Given the description of an element on the screen output the (x, y) to click on. 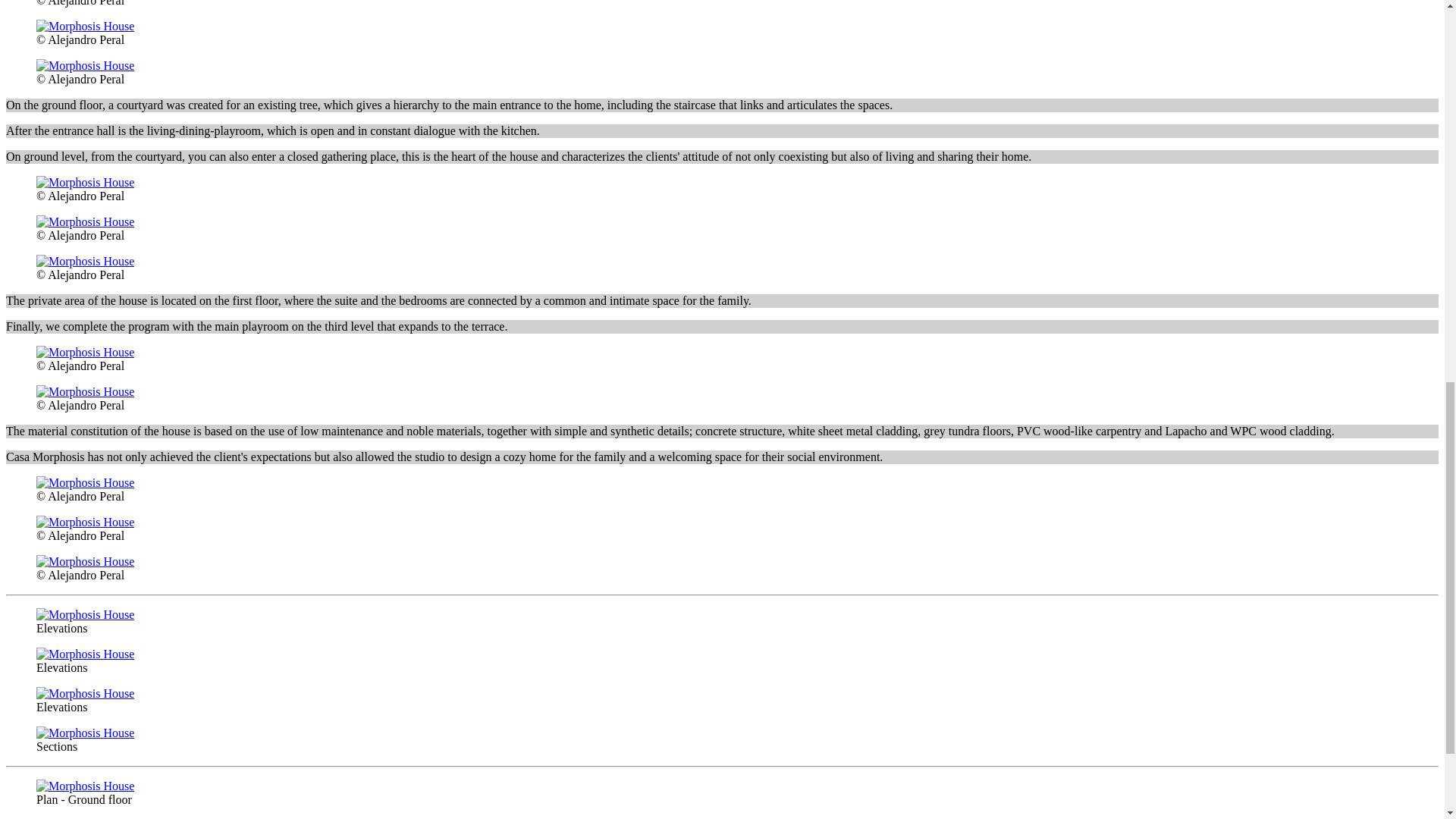
Morphosis House (84, 260)
Morphosis House (84, 351)
Morphosis House (84, 521)
Morphosis House (84, 221)
Morphosis House (84, 182)
Morphosis House (84, 391)
Morphosis House (84, 65)
Morphosis House (84, 481)
Morphosis House (84, 25)
